Given the description of an element on the screen output the (x, y) to click on. 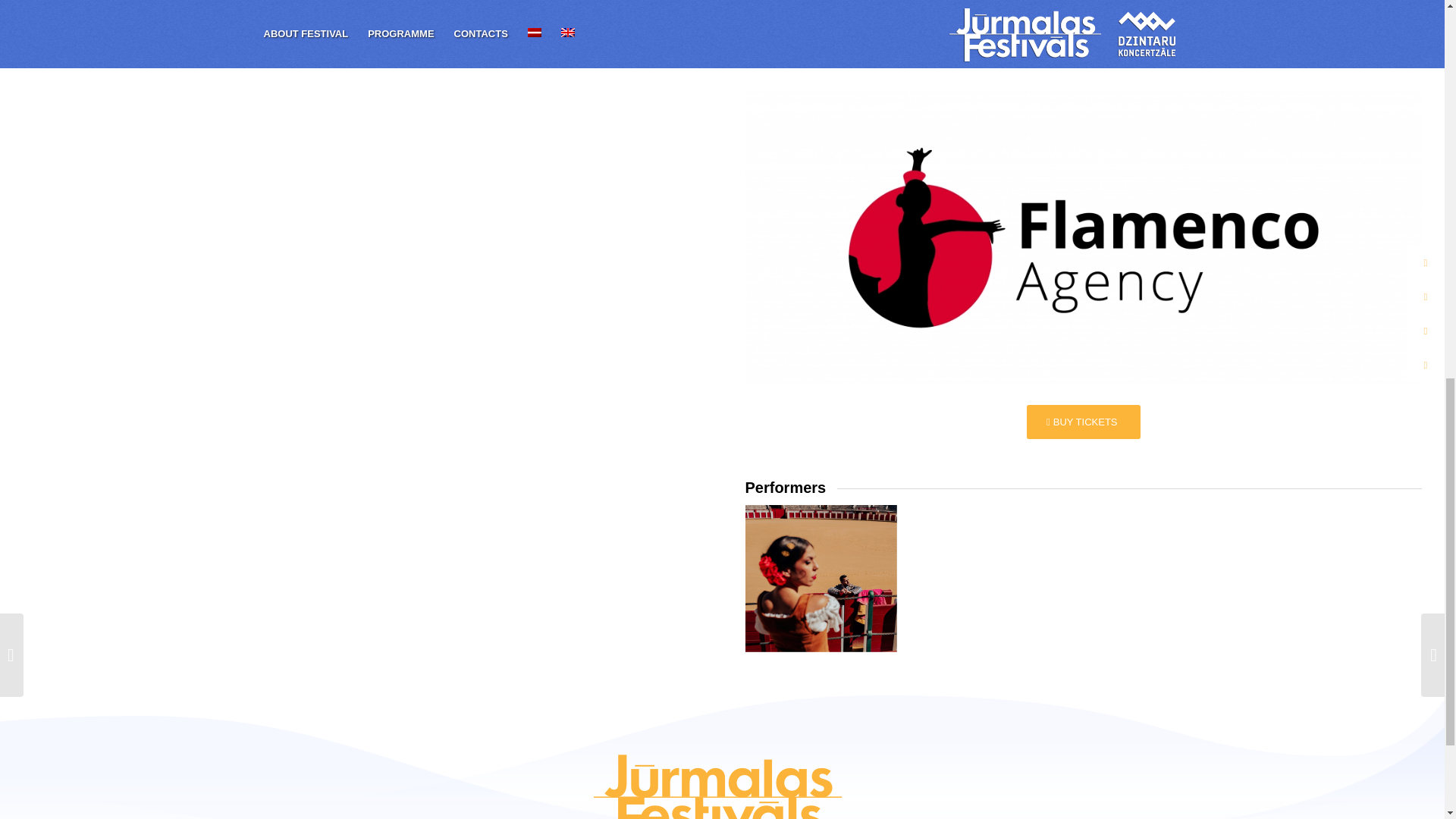
BUY TICKETS (1083, 421)
